Given the description of an element on the screen output the (x, y) to click on. 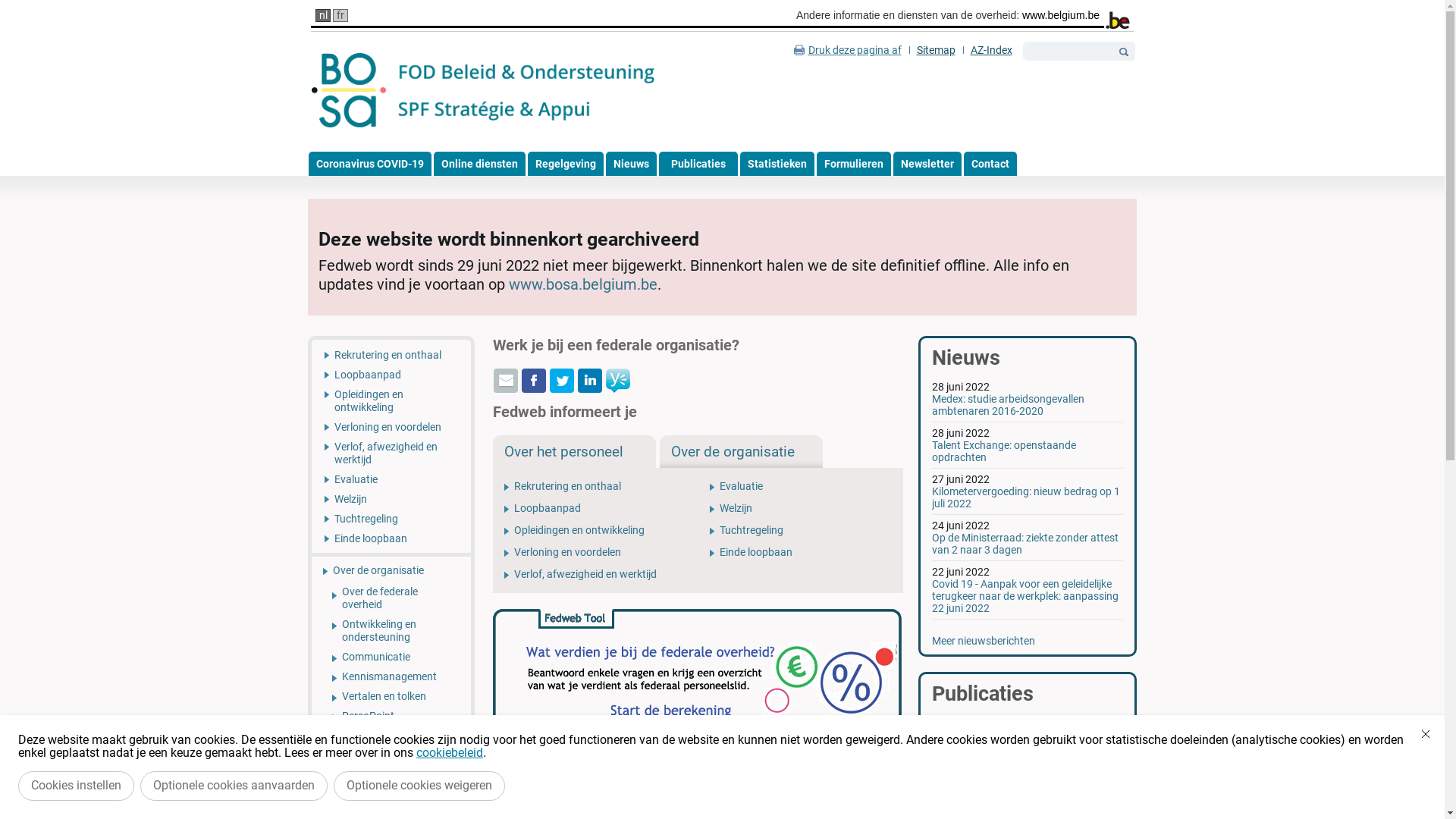
Optionele cookies aanvaarden Element type: text (233, 785)
Publicaties Element type: text (697, 163)
ICT Element type: text (390, 770)
Vertalen en tolken Element type: text (390, 696)
Ontwikkeling en ondersteuning Element type: text (390, 630)
Optionele cookies weigeren Element type: text (419, 785)
PersoPoint Element type: text (390, 715)
Einde loopbaan Element type: text (390, 540)
Over de organisatie Element type: text (390, 568)
Talent Exchange: openstaande opdrachten Element type: text (1003, 451)
Tuchtregeling Element type: text (390, 518)
Rekrutering en onthaal Element type: text (390, 351)
Verlof, afwezigheid en werktijd Element type: text (595, 574)
Op de Ministerraad: ziekte zonder attest van 2 naar 3 dagen Element type: text (1024, 543)
Welzijn Element type: text (390, 498)
Evaluatie Element type: text (390, 479)
Verloning en voordelen Element type: text (595, 552)
Skip to main content Element type: text (48, 0)
Sluiten Element type: hover (1425, 733)
www.bosa.belgium.be Element type: text (582, 284)
Terug naar de Fedweb homepage Element type: hover (483, 90)
Loopbaanpad Element type: text (390, 374)
AZ-Index Element type: text (991, 49)
Statistieken Element type: text (777, 163)
www.belgium.be Element type: text (1060, 15)
Tuchtregeling Element type: text (800, 530)
Opleidingen en ontwikkeling Element type: text (390, 400)
Sitemap Element type: text (935, 49)
Verloning en voordelen Element type: text (390, 426)
Einde loopbaan Element type: text (800, 552)
Welzijn Element type: text (800, 508)
Regelgeving Element type: text (565, 163)
nl Element type: text (322, 15)
Coronavirus COVID-19 Element type: text (368, 163)
Rekrutering en onthaal Element type: text (595, 486)
Medex: studie arbeidsongevallen ambtenaren 2016-2020 Element type: text (1007, 404)
Formulieren Element type: text (852, 163)
Evaluatie Element type: text (800, 486)
Communicatie Element type: text (390, 656)
Cookies instellen Element type: text (76, 785)
cookiebeleid Element type: text (449, 752)
Kilometervergoeding: nieuw bedrag op 1 juli 2022 Element type: text (1025, 497)
Budgettering en overheidsopdrachten Element type: text (390, 741)
Nieuws Element type: text (630, 163)
Verlof, afwezigheid en werktijd Element type: text (390, 452)
Online diensten Element type: text (479, 163)
Druk deze pagina af Element type: text (847, 49)
Contact Element type: text (989, 163)
Newsletter Element type: text (927, 163)
fr Element type: text (340, 15)
Opleidingen en ontwikkeling Element type: text (595, 530)
Zoeken Element type: text (1123, 50)
Loopbaanpad Element type: text (595, 508)
Kennismanagement Element type: text (390, 676)
Over de federale overheid Element type: text (390, 597)
Meer nieuwsberichten Element type: text (983, 640)
